Given the description of an element on the screen output the (x, y) to click on. 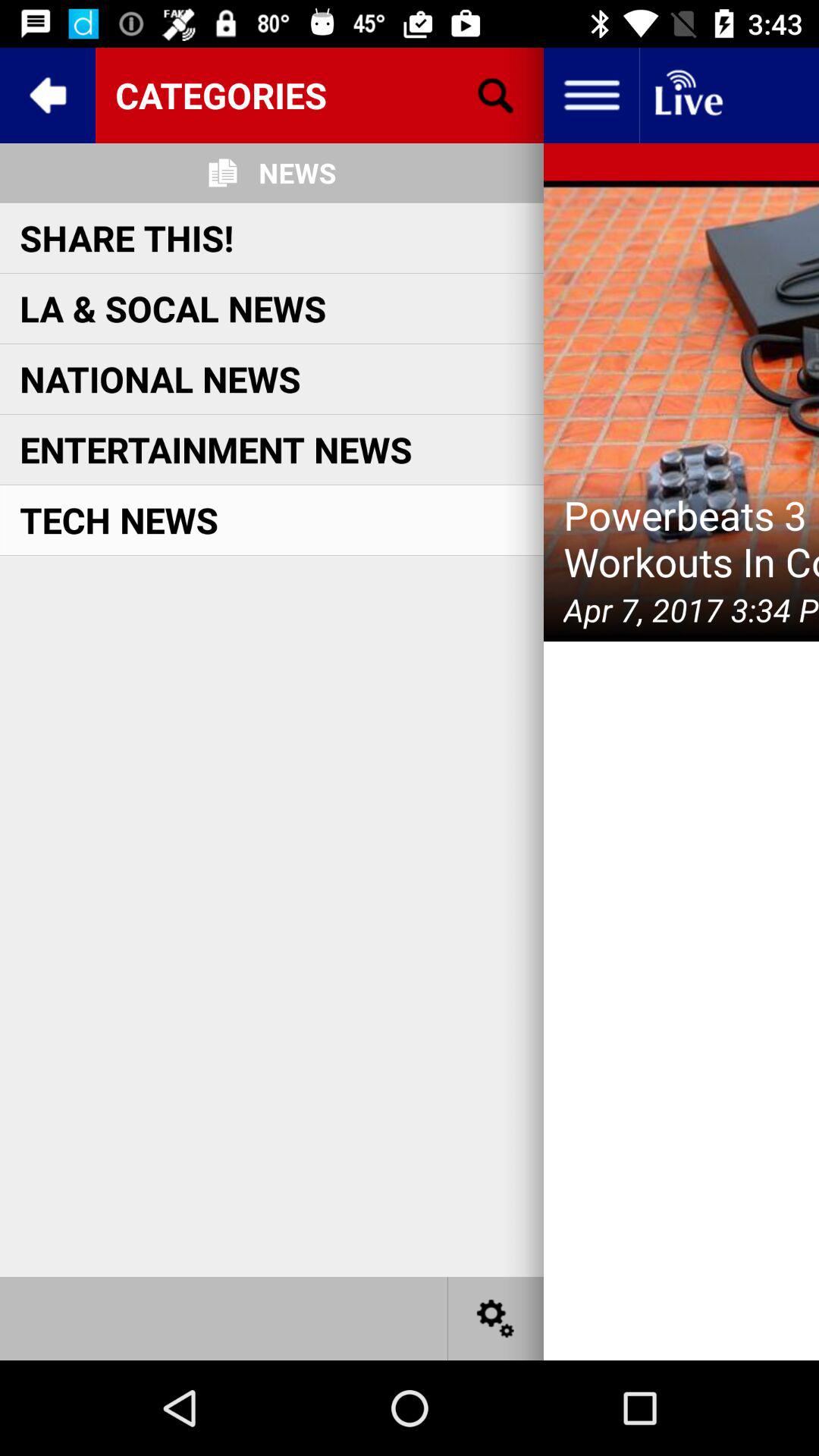
launch apr 7 2017 item (691, 609)
